Given the description of an element on the screen output the (x, y) to click on. 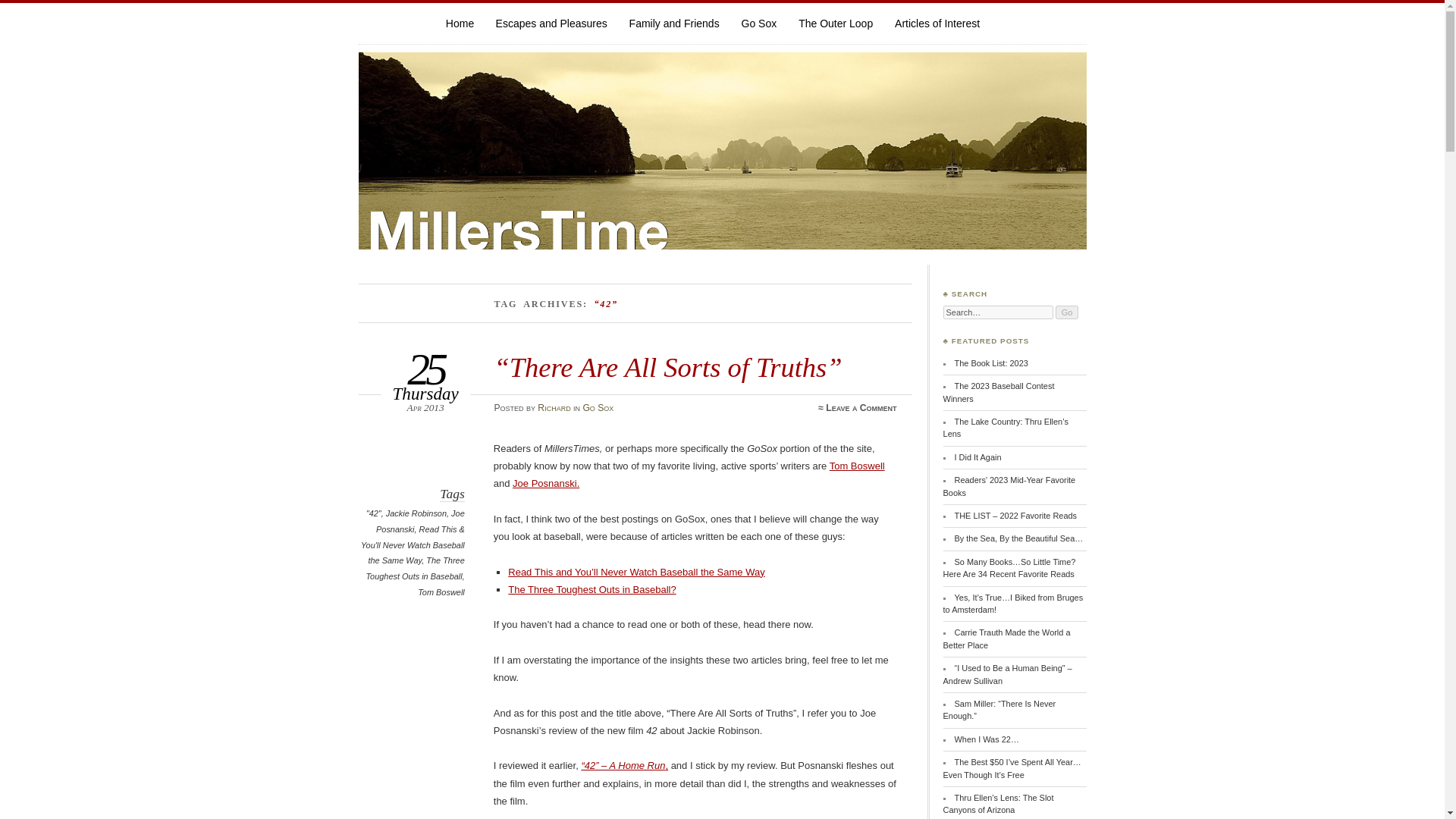
Richard (553, 407)
Permanent Link: The 2023 Baseball Contest Winners (998, 391)
Tom Boswell (857, 465)
The Book List: 2023 (991, 362)
Articles of Interest (937, 23)
Tom Boswell (440, 592)
Go Sox (759, 23)
Family and Friends (673, 23)
Leave a Comment (860, 407)
Escapes and Pleasures (551, 23)
View all posts by Richard (553, 407)
Jackie Robinson (415, 512)
Go Sox (759, 23)
The Outer Loop (834, 23)
